Given the description of an element on the screen output the (x, y) to click on. 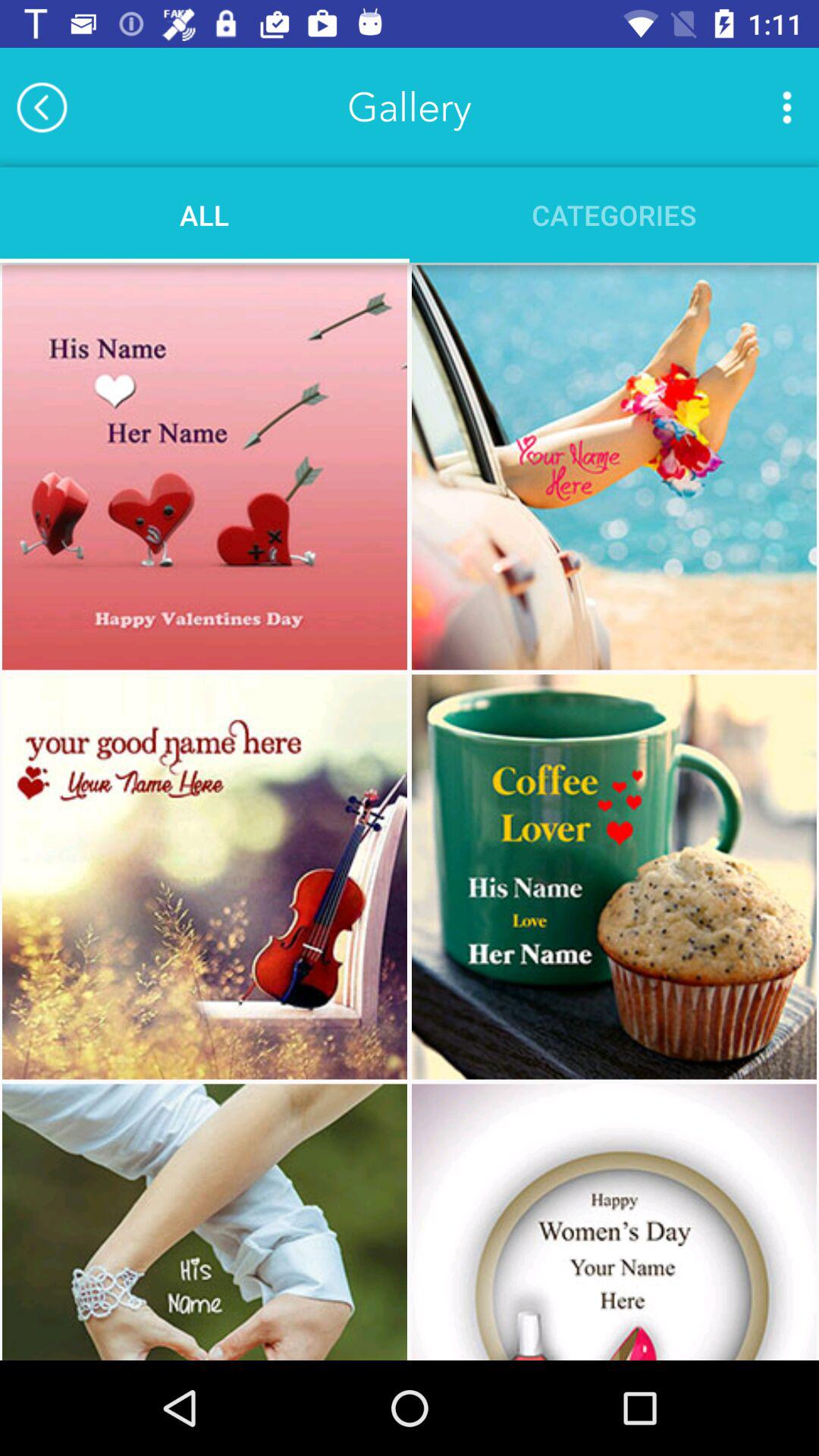
tap item next to the gallery item (787, 107)
